Given the description of an element on the screen output the (x, y) to click on. 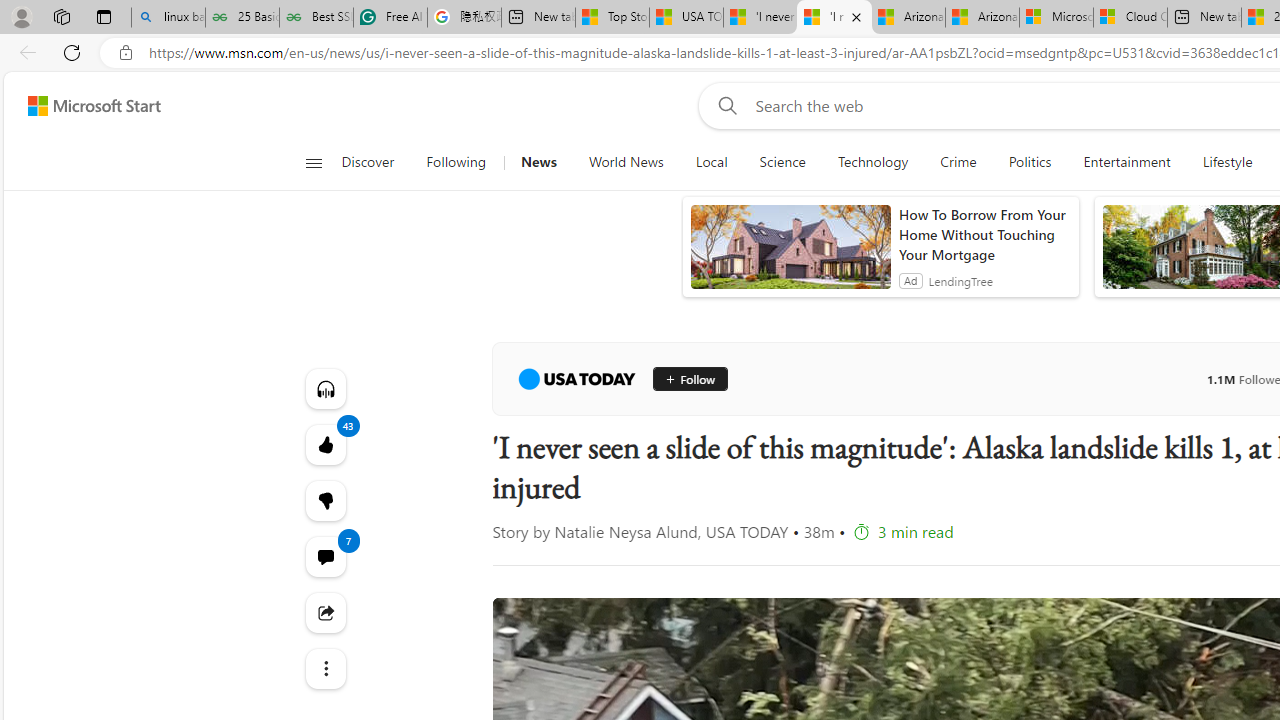
anim-content (789, 255)
USA TODAY - MSN (686, 17)
Top Stories - MSN (612, 17)
Share this story (324, 612)
Listen to this article (324, 388)
25 Basic Linux Commands For Beginners - GeeksforGeeks (242, 17)
